Given the description of an element on the screen output the (x, y) to click on. 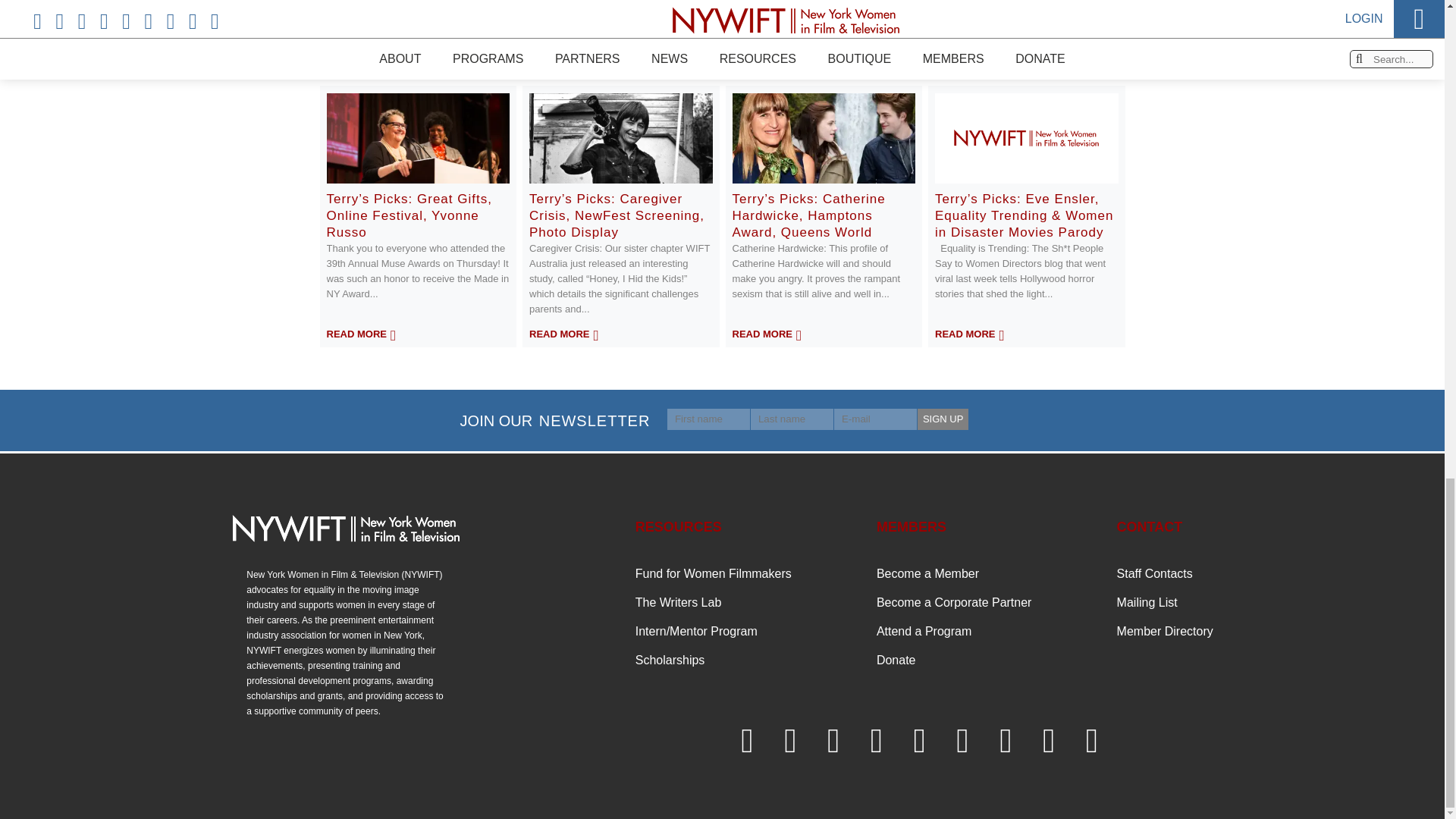
Post Comment (366, 11)
